Given the description of an element on the screen output the (x, y) to click on. 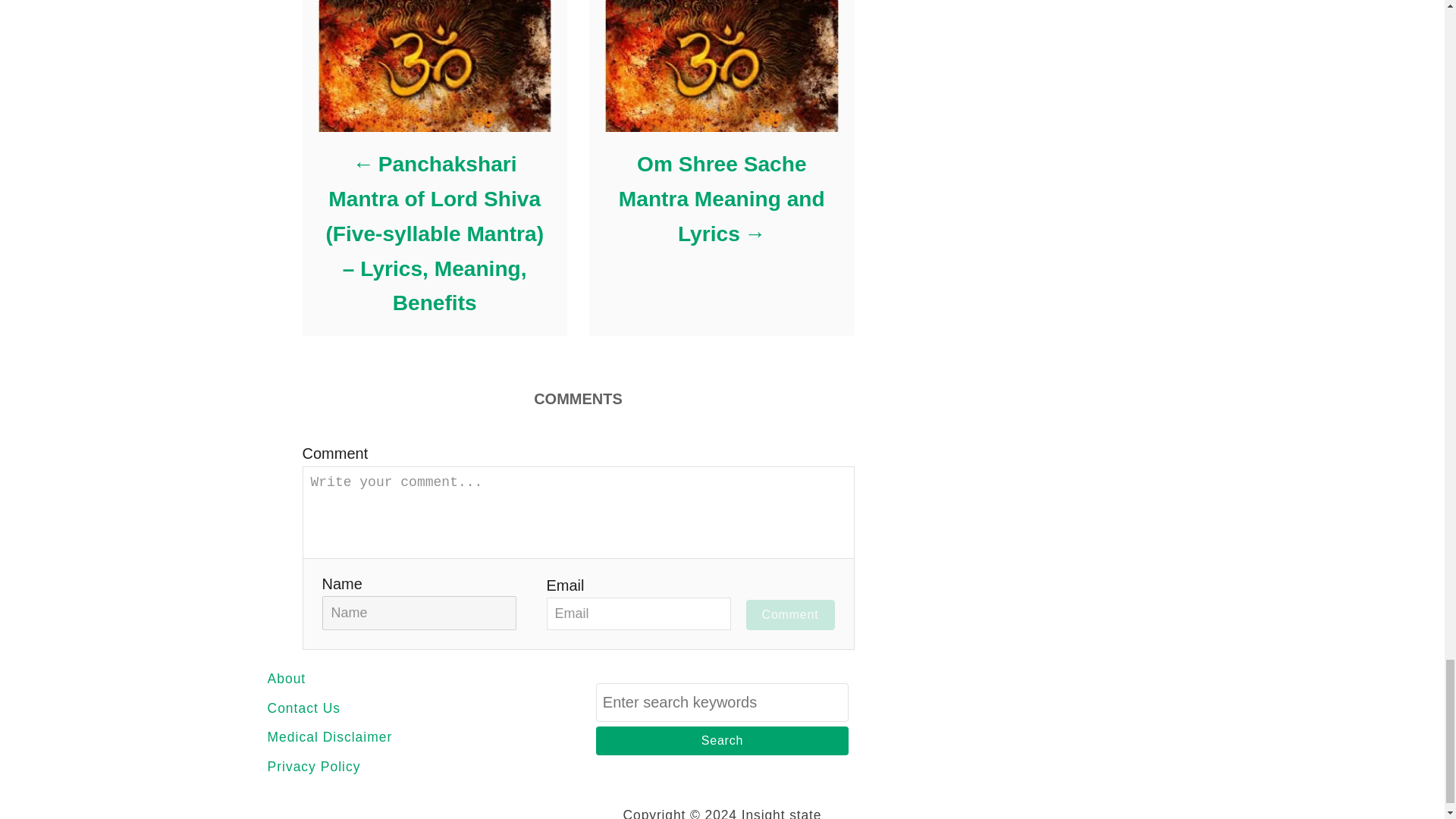
Comment (789, 614)
Search (721, 740)
Privacy Policy (400, 766)
Om Shree Sache Mantra Meaning and Lyrics (721, 198)
Contact Us (400, 708)
Search (721, 740)
About (400, 678)
Search (721, 740)
Medical Disclaimer (400, 736)
Search for: (721, 702)
